Given the description of an element on the screen output the (x, y) to click on. 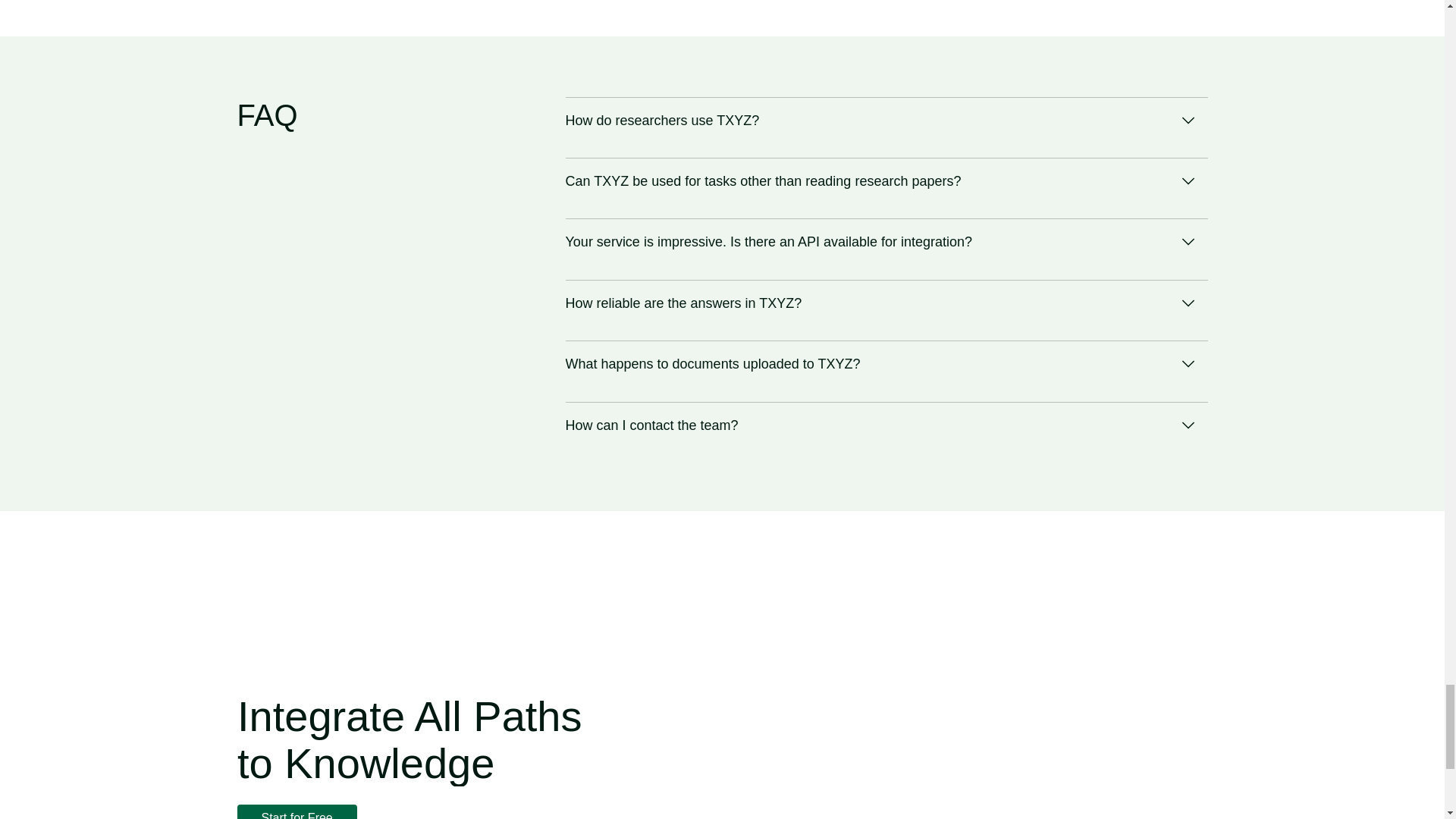
Start for Free (295, 811)
